Given the description of an element on the screen output the (x, y) to click on. 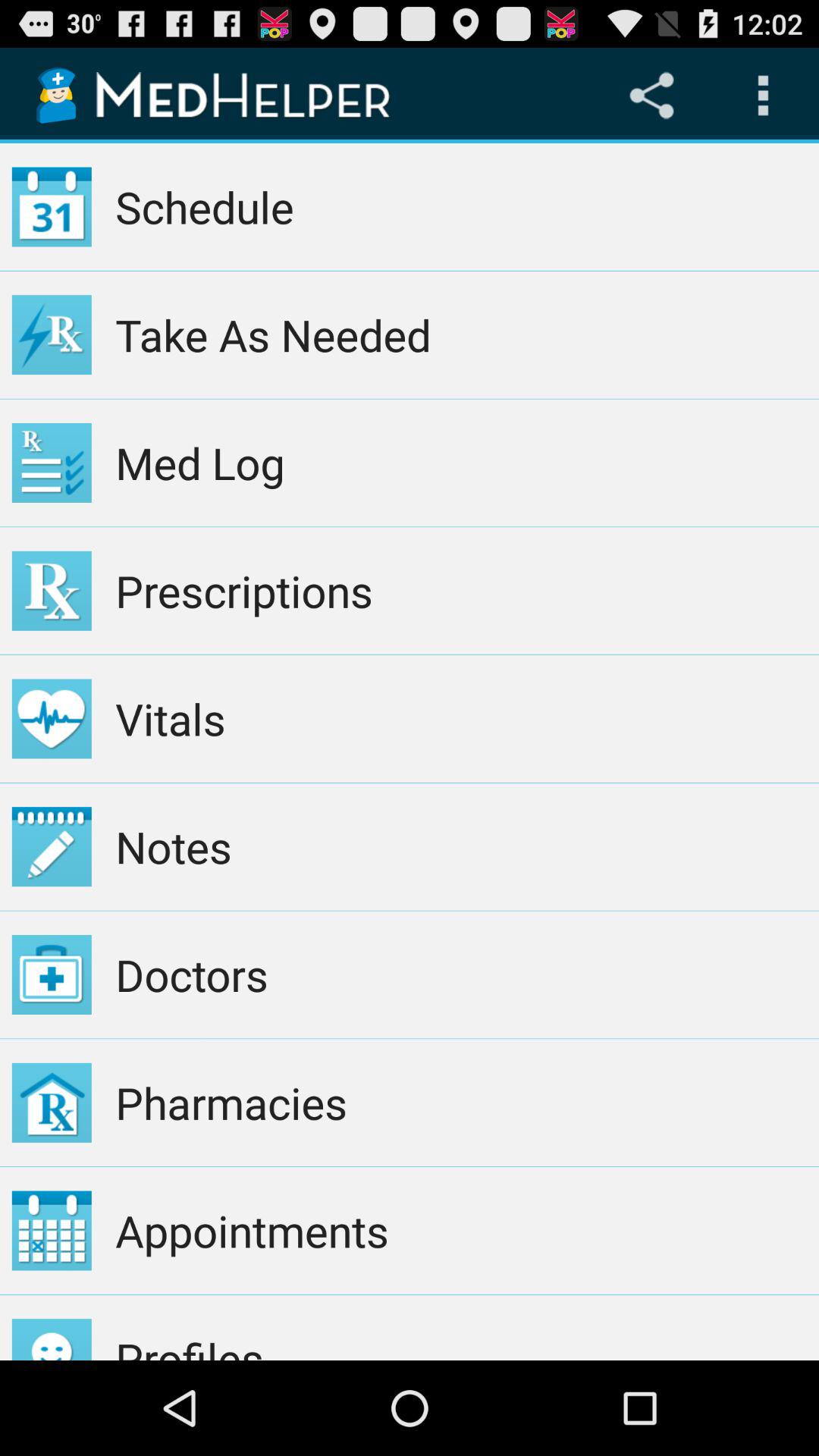
flip until profiles app (461, 1327)
